Given the description of an element on the screen output the (x, y) to click on. 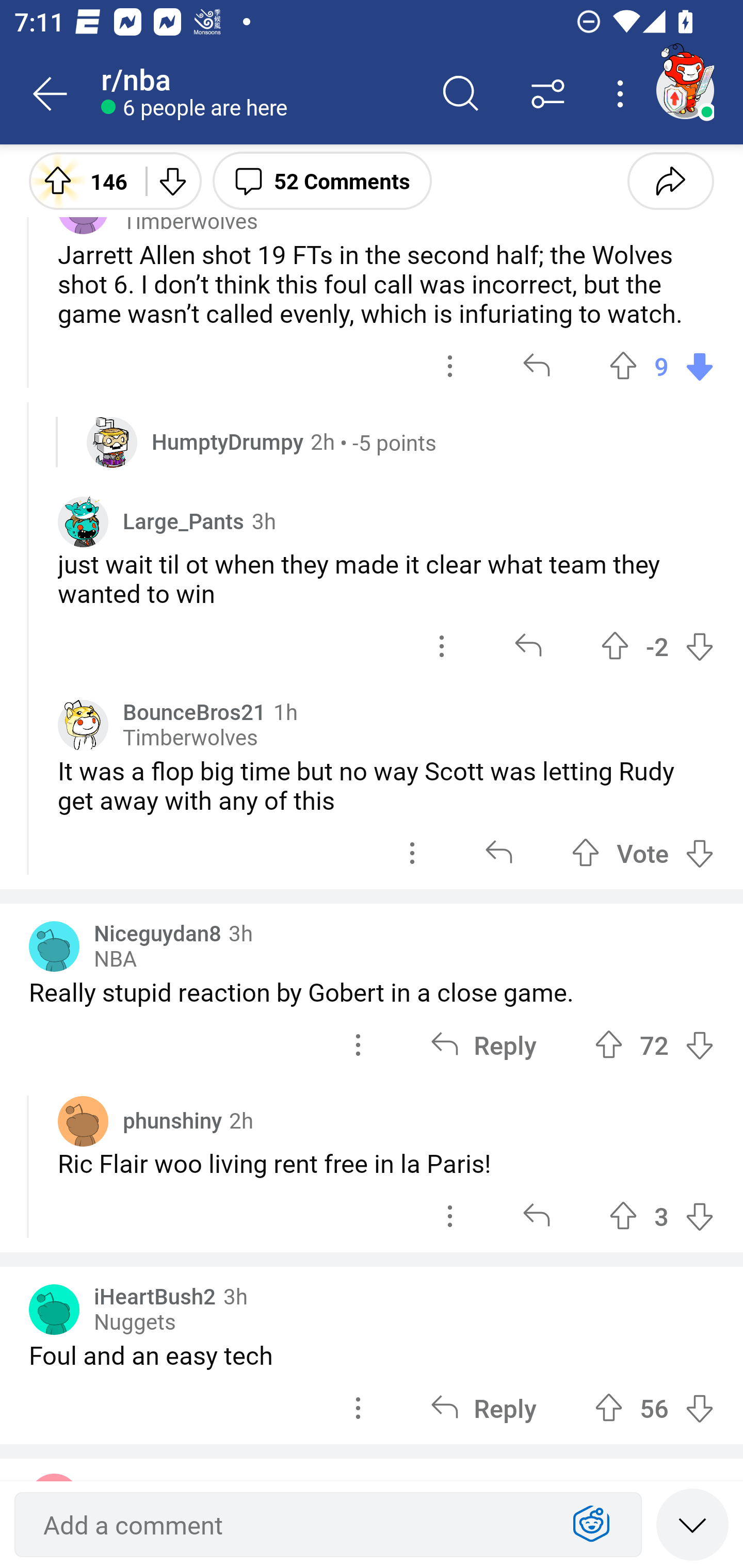
Back (50, 93)
TestAppium002 account (685, 90)
Search comments (460, 93)
Sort comments (547, 93)
More options (623, 93)
r/nba 6 people are here (259, 93)
Upvote 146 (79, 180)
Downvote (171, 180)
52 Comments (321, 180)
Share (670, 180)
options (449, 366)
Upvote 9 9 votes Downvote (661, 366)
Custom avatar (111, 442)
Custom avatar (82, 522)
options (441, 645)
Upvote -2 -2 votes Downvote (657, 645)
Custom avatar (82, 725)
Timberwolves (190, 737)
options (412, 852)
Upvote Vote 2 votes Downvote (642, 852)
Avatar (53, 946)
NBA (114, 959)
Really stupid reaction by Gobert in a close game. (371, 991)
options (358, 1044)
Reply (483, 1044)
Upvote 72 72 votes Downvote (654, 1044)
Avatar (82, 1121)
Ric Flair woo living rent free in la Paris! (385, 1163)
options (449, 1216)
Upvote 3 3 votes Downvote (661, 1216)
Avatar (53, 1309)
Nuggets (134, 1321)
Foul and an easy tech (371, 1354)
options (358, 1408)
Reply (483, 1408)
Upvote 56 56 votes Downvote (654, 1408)
Speed read (692, 1524)
Add a comment (291, 1524)
Show Expressions (590, 1524)
